Given the description of an element on the screen output the (x, y) to click on. 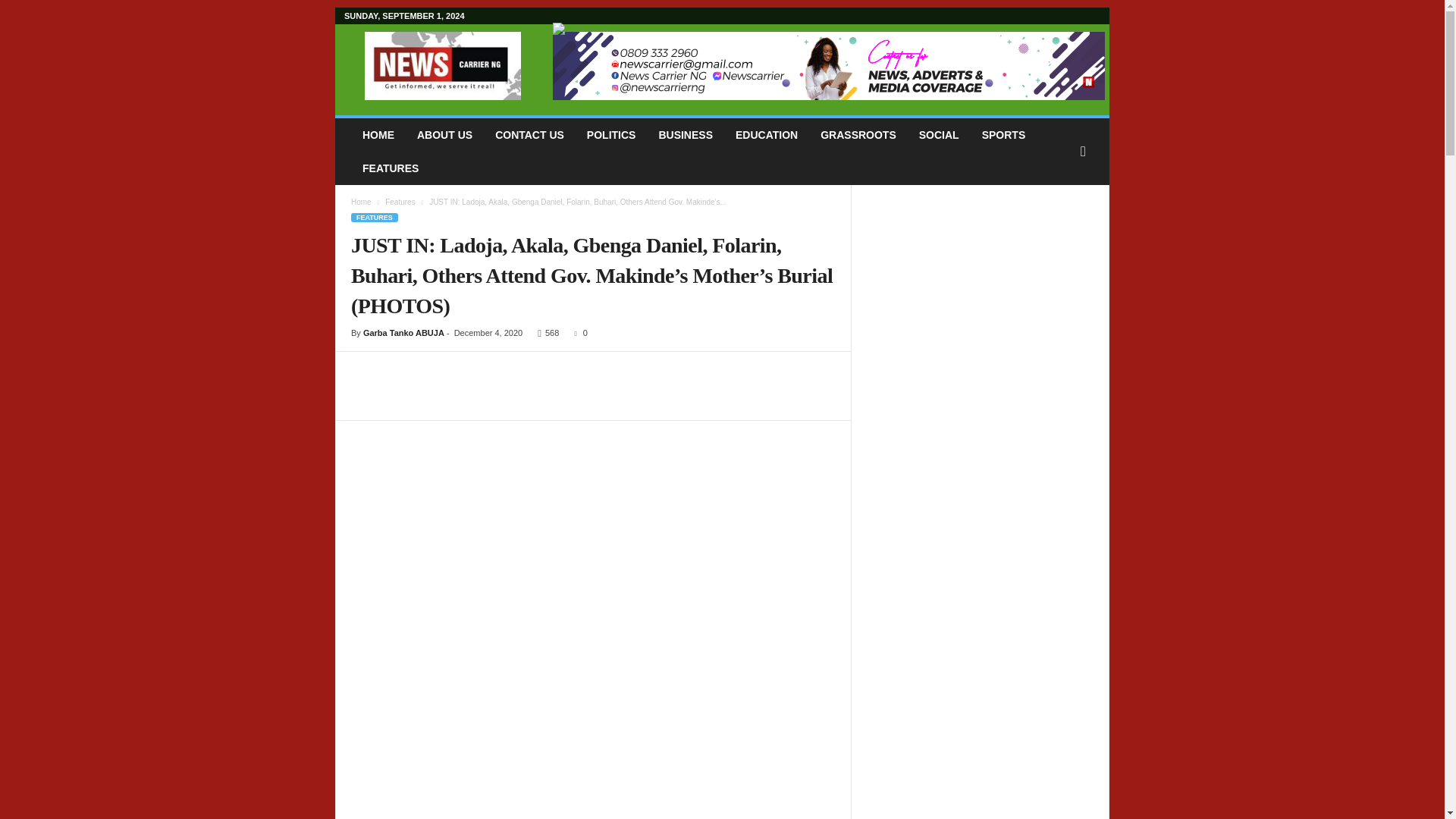
View all posts in Features (399, 202)
0 (576, 332)
News Carrier (442, 65)
Garba Tanko ABUJA (403, 332)
POLITICS (611, 134)
ABOUT US (444, 134)
GRASSROOTS (858, 134)
topFacebookLike (390, 367)
Home (360, 202)
HOME (378, 134)
